Given the description of an element on the screen output the (x, y) to click on. 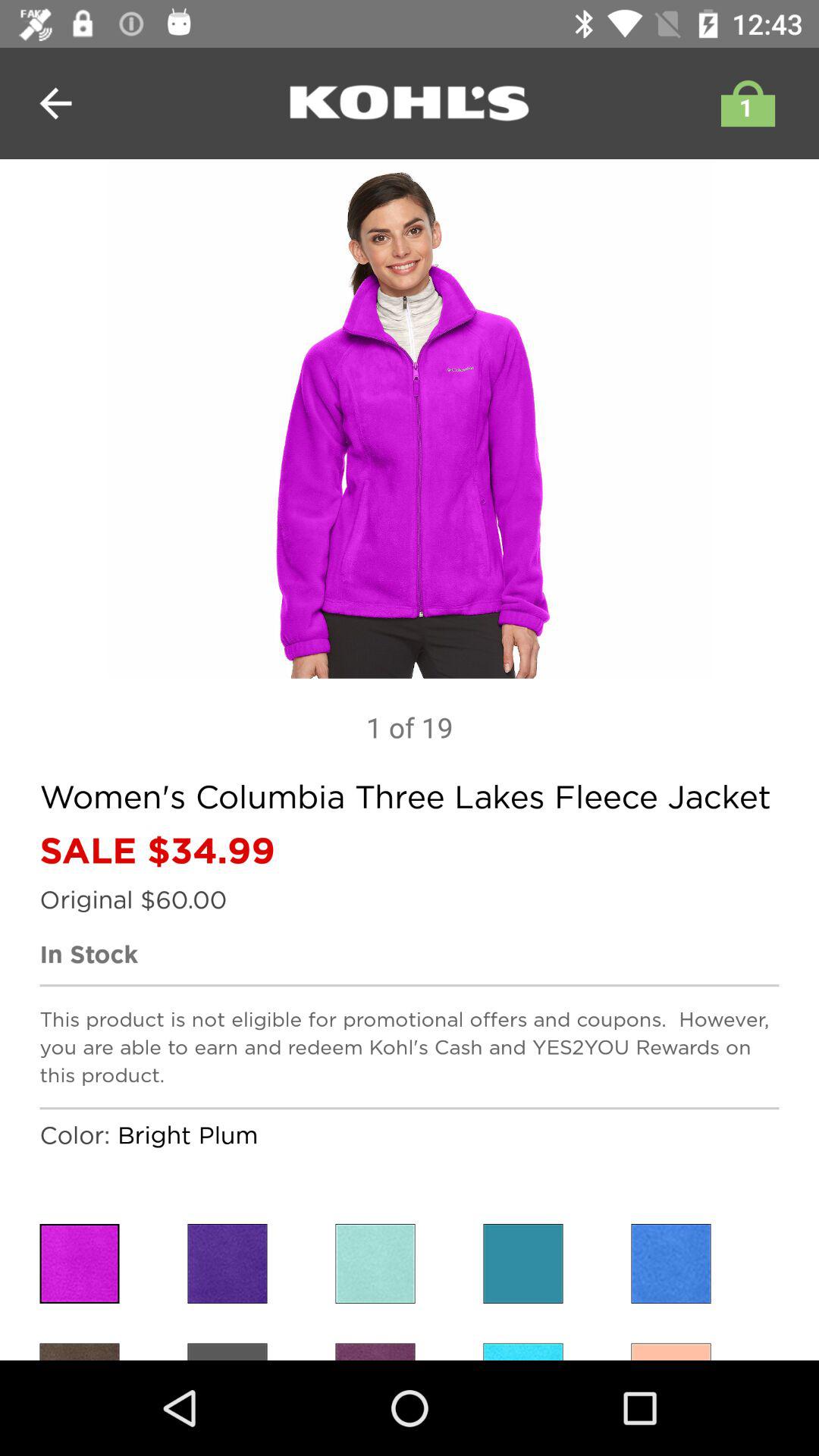
select color (523, 1263)
